Given the description of an element on the screen output the (x, y) to click on. 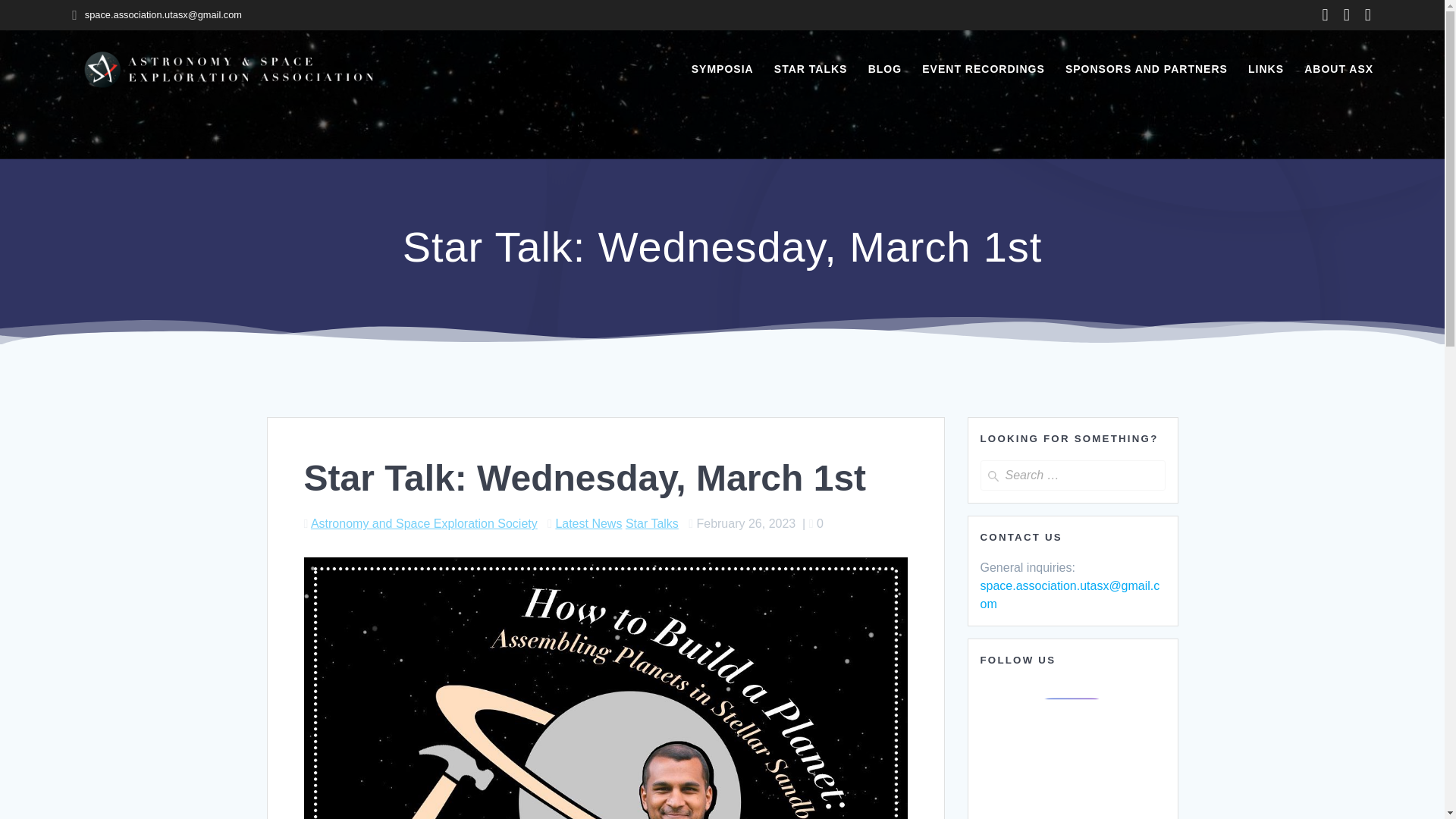
Posts by Astronomy and Space Exploration Society (424, 522)
BLOG (884, 68)
Latest News (587, 522)
LINKS (1265, 68)
EVENT RECORDINGS (982, 68)
SYMPOSIA (722, 68)
Star Talks (652, 522)
space.association.utasx (1043, 585)
STAR TALKS (810, 68)
SPONSORS AND PARTNERS (1146, 68)
